Given the description of an element on the screen output the (x, y) to click on. 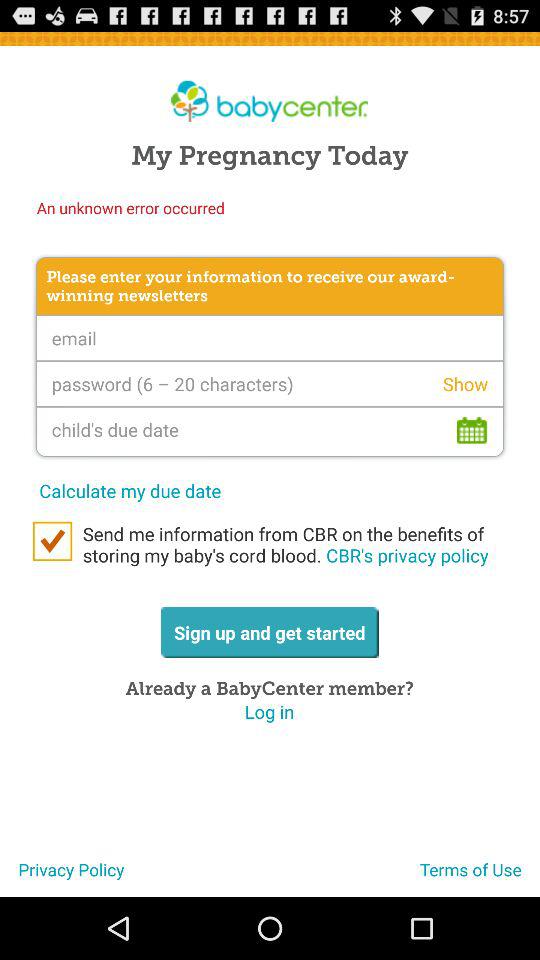
press the app at the bottom right corner (480, 877)
